Given the description of an element on the screen output the (x, y) to click on. 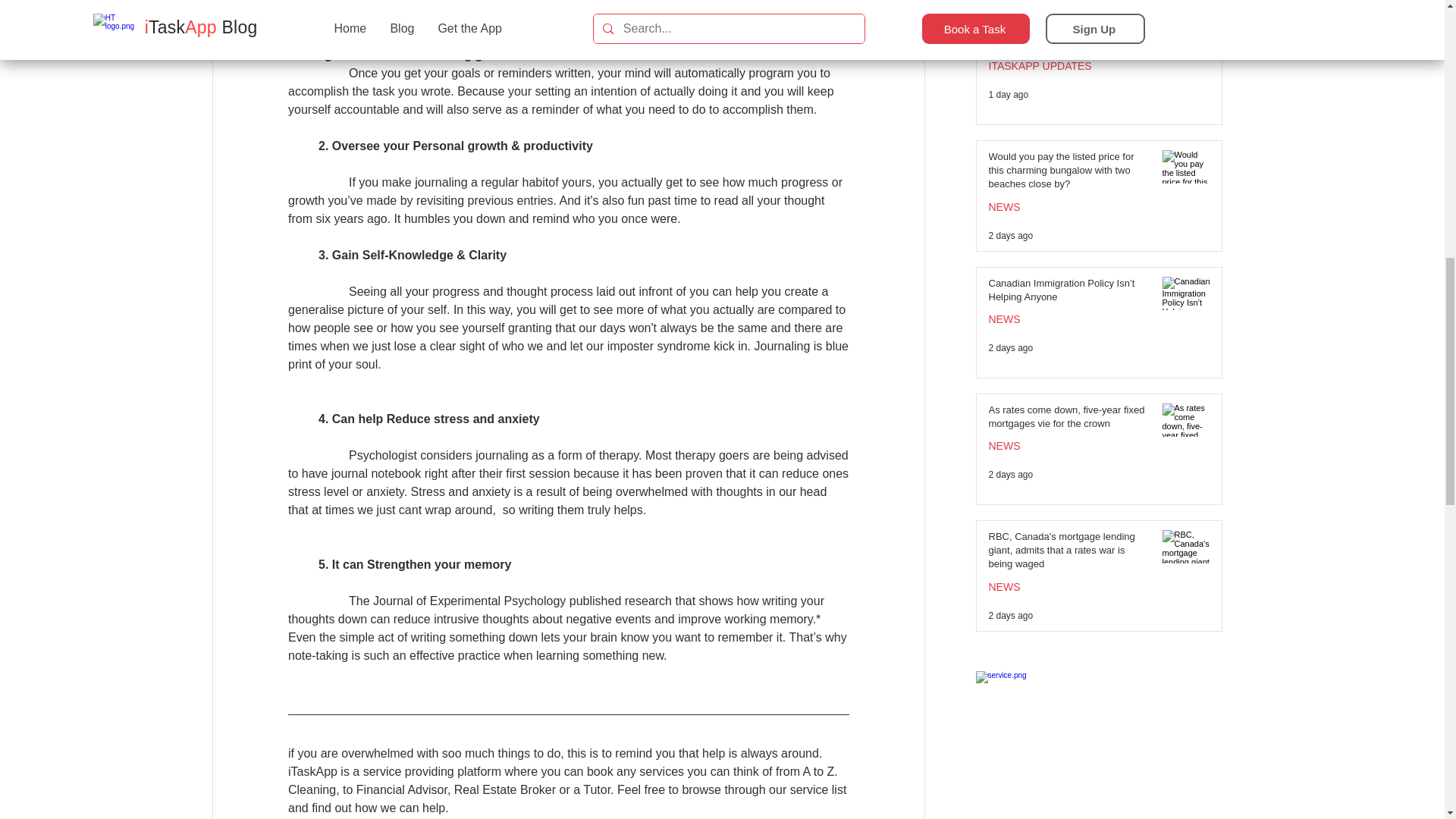
2 days ago (1010, 474)
1 day ago (1008, 94)
2 days ago (1010, 347)
2 days ago (1010, 235)
2 days ago (1010, 615)
